Given the description of an element on the screen output the (x, y) to click on. 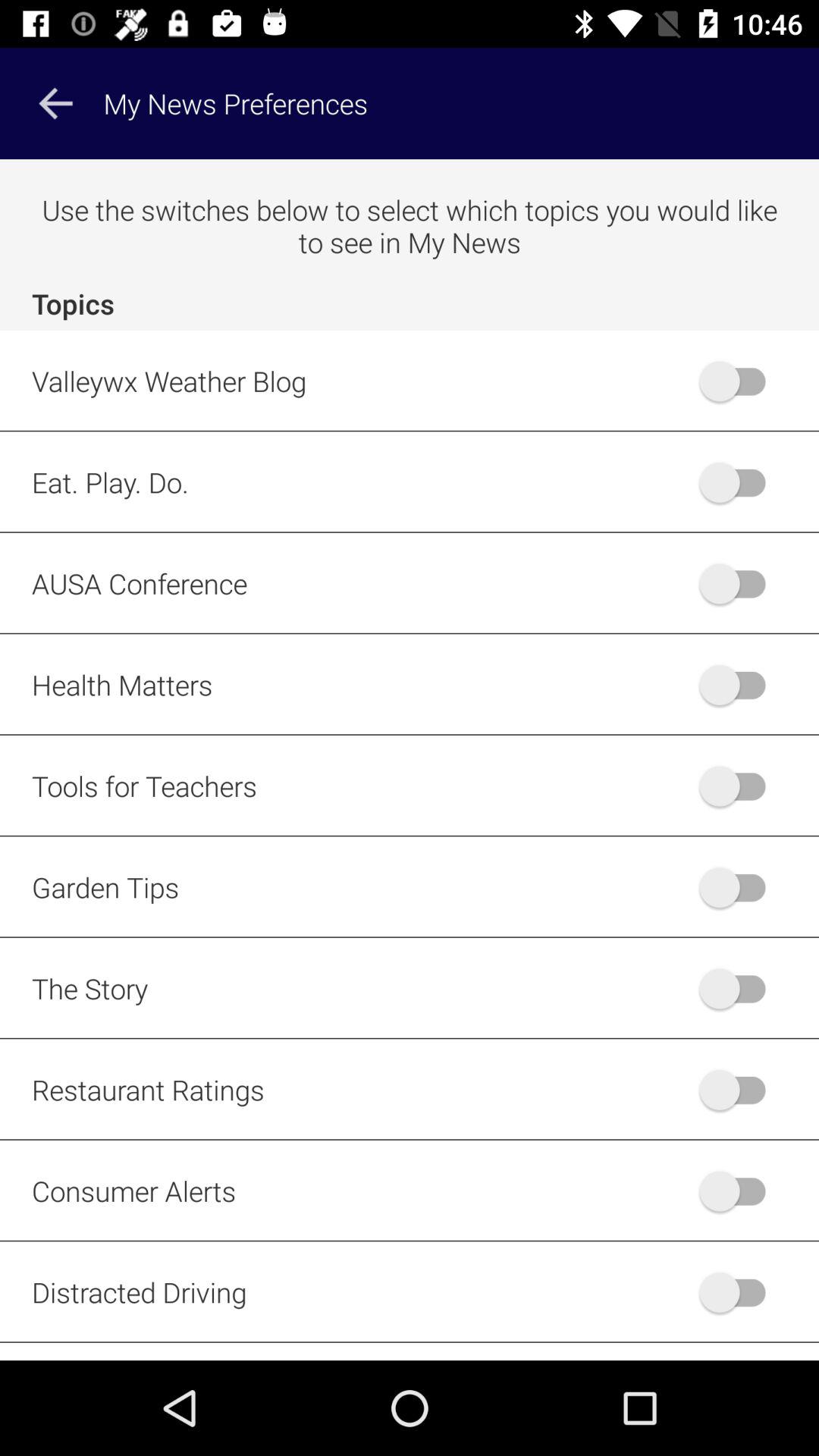
turn on consumer alerts (739, 1190)
